Given the description of an element on the screen output the (x, y) to click on. 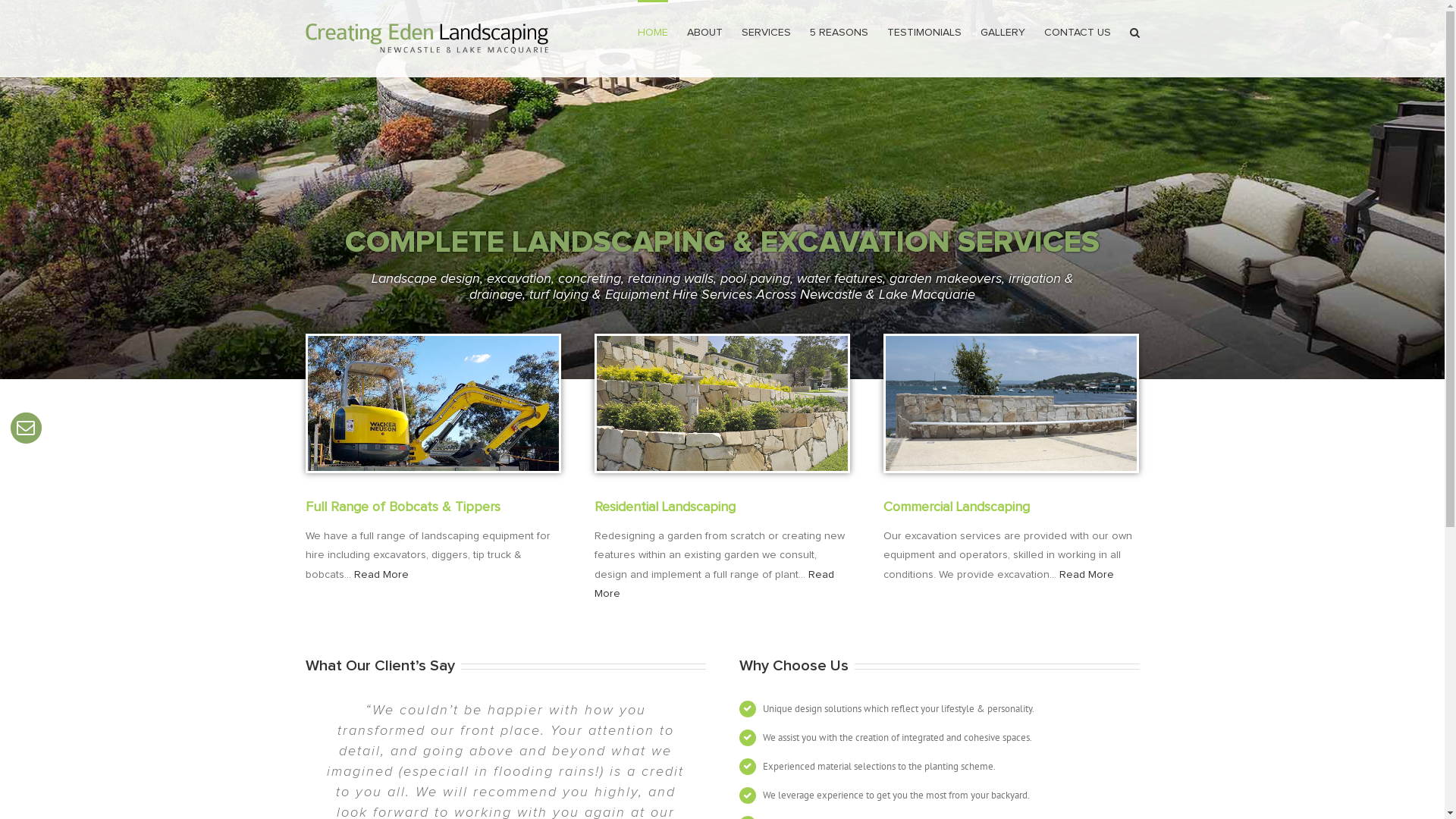
Full Range of Bobcats & Tippers Element type: text (401, 507)
HOME Element type: text (652, 31)
SERVICES Element type: text (765, 31)
5 REASONS Element type: text (838, 31)
Read More Element type: text (380, 574)
Residential Landscaping Element type: text (664, 507)
GALLERY Element type: text (1001, 31)
CONTACT US Element type: text (1076, 31)
Commercial Landscaping Element type: text (956, 507)
TESTIMONIALS Element type: text (924, 31)
Read More Element type: text (714, 584)
Read More Element type: text (1086, 574)
ABOUT Element type: text (704, 31)
